Given the description of an element on the screen output the (x, y) to click on. 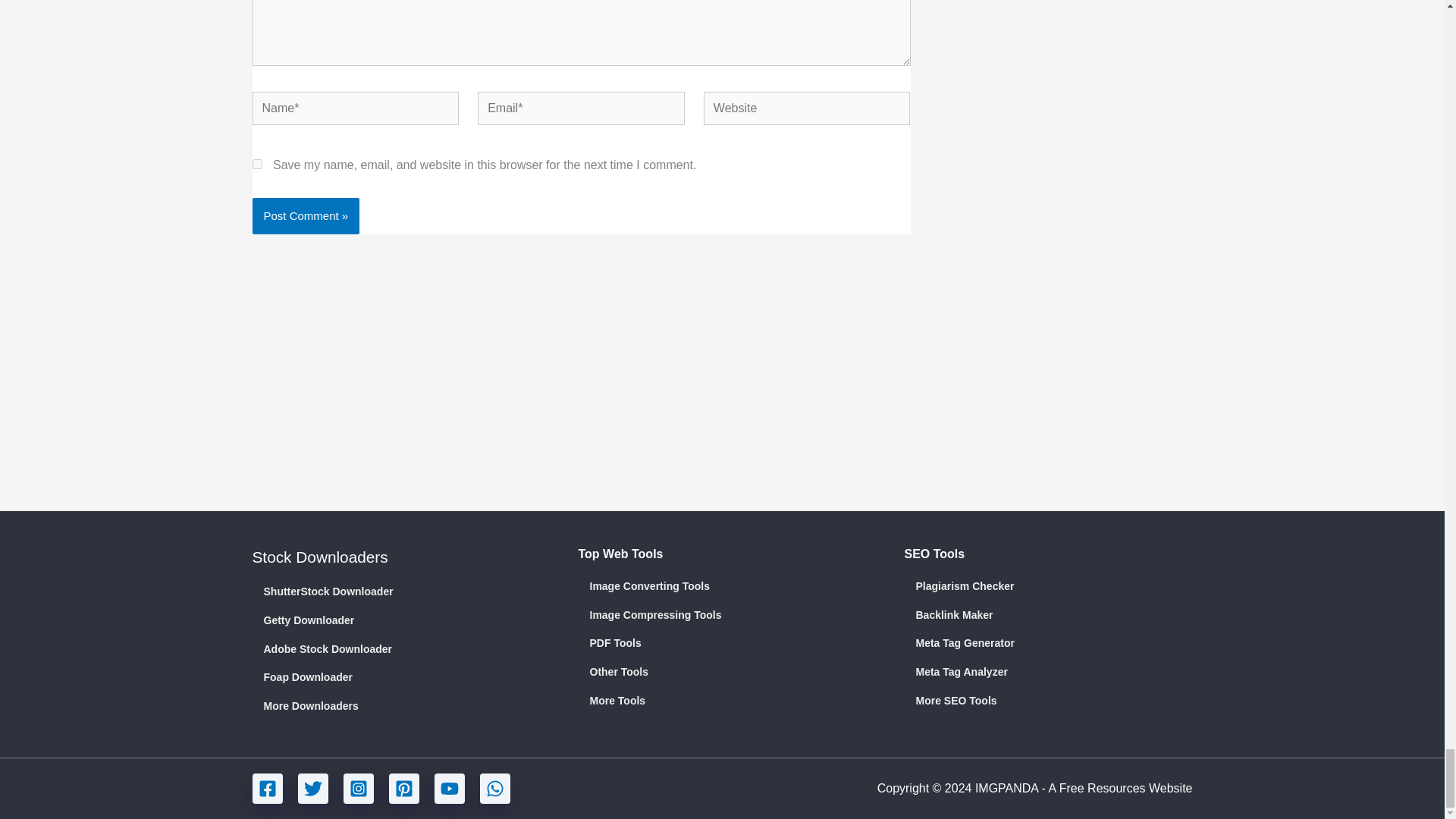
yes (256, 163)
